Given the description of an element on the screen output the (x, y) to click on. 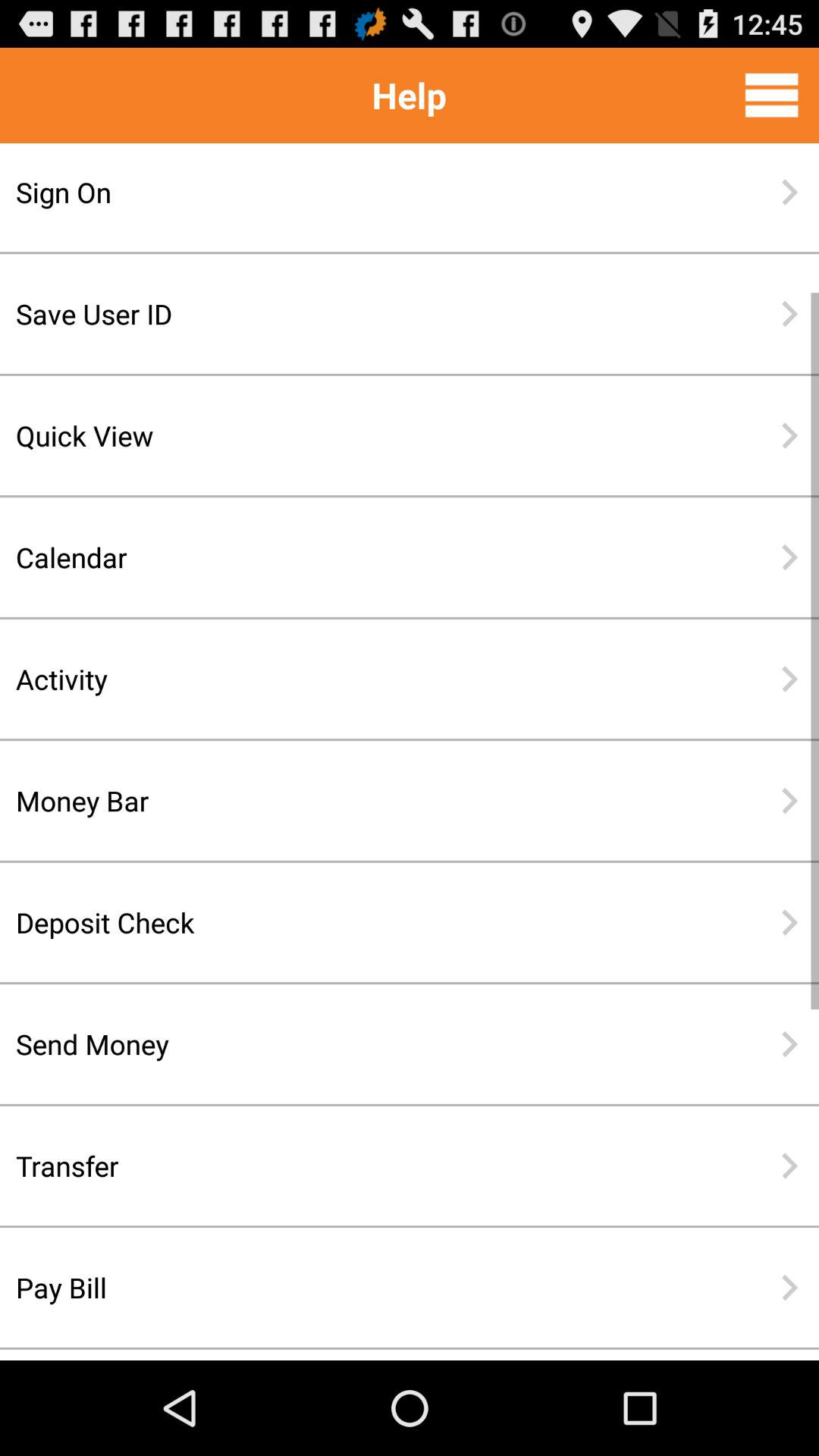
tap the calendar icon (359, 557)
